Given the description of an element on the screen output the (x, y) to click on. 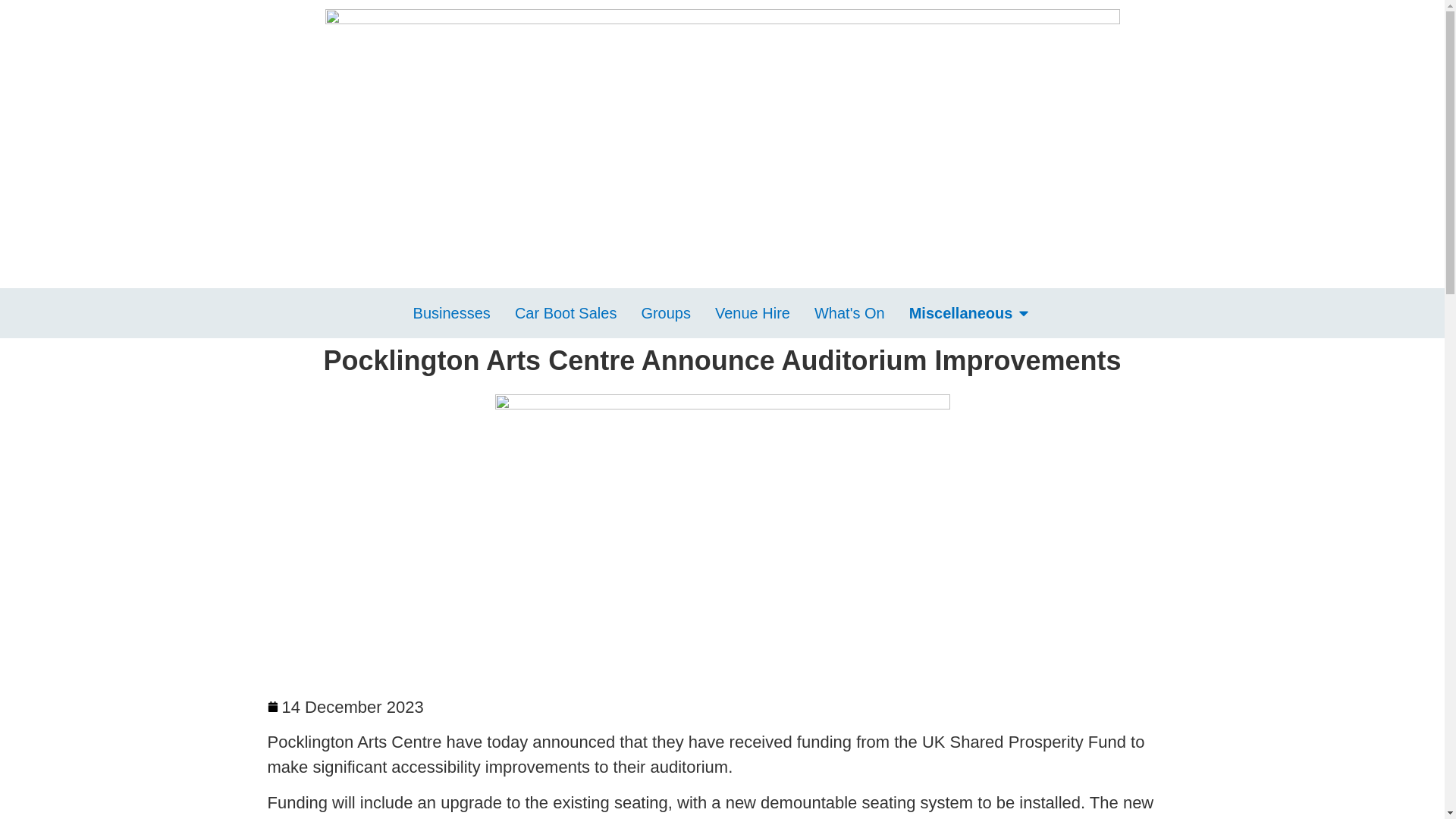
Venue Hire (752, 313)
Car Boot Sales (566, 313)
Groups (665, 313)
What's On (849, 313)
Businesses (451, 313)
